Given the description of an element on the screen output the (x, y) to click on. 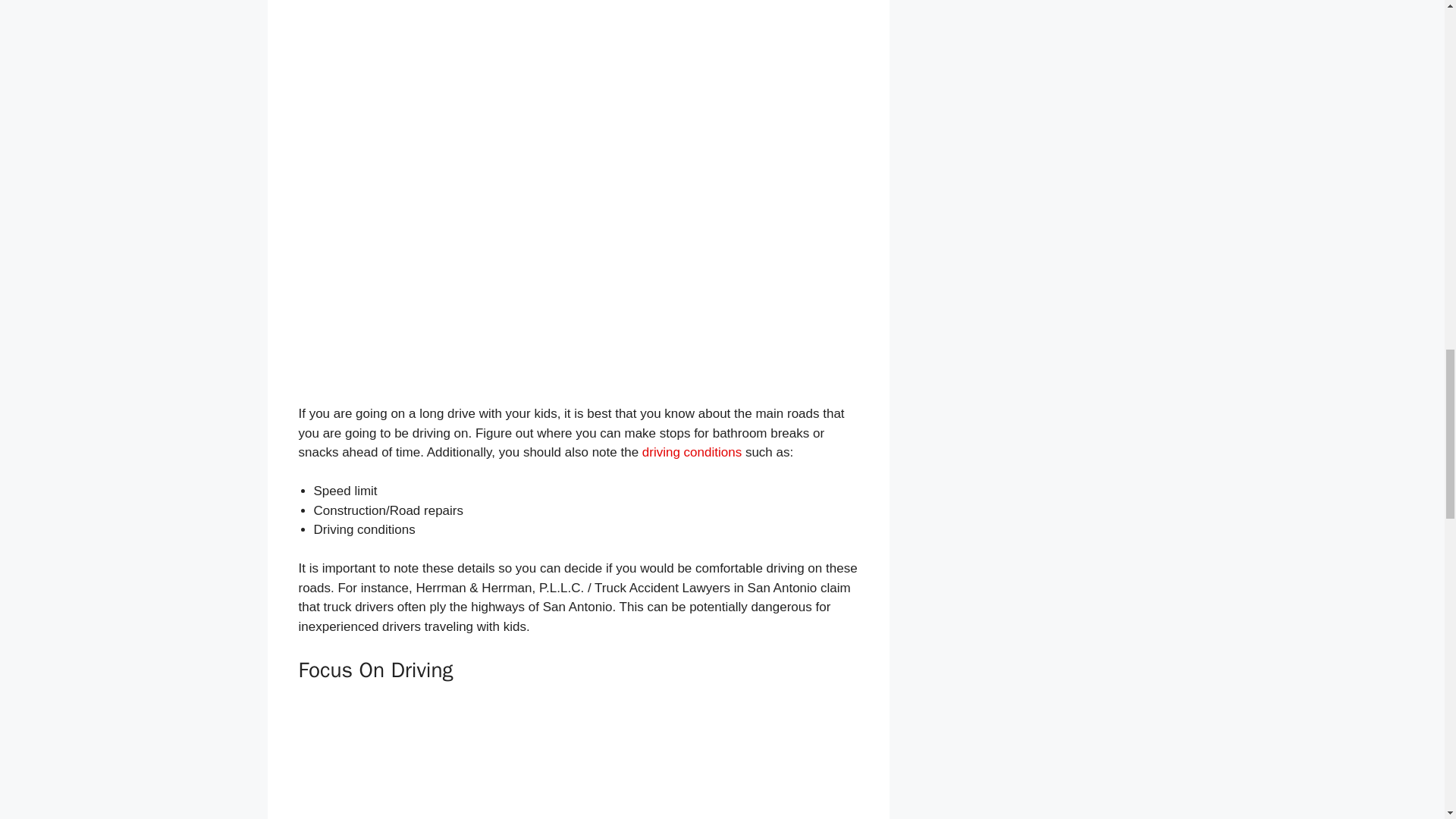
focus-on-driving (578, 766)
driving conditions (691, 452)
